Given the description of an element on the screen output the (x, y) to click on. 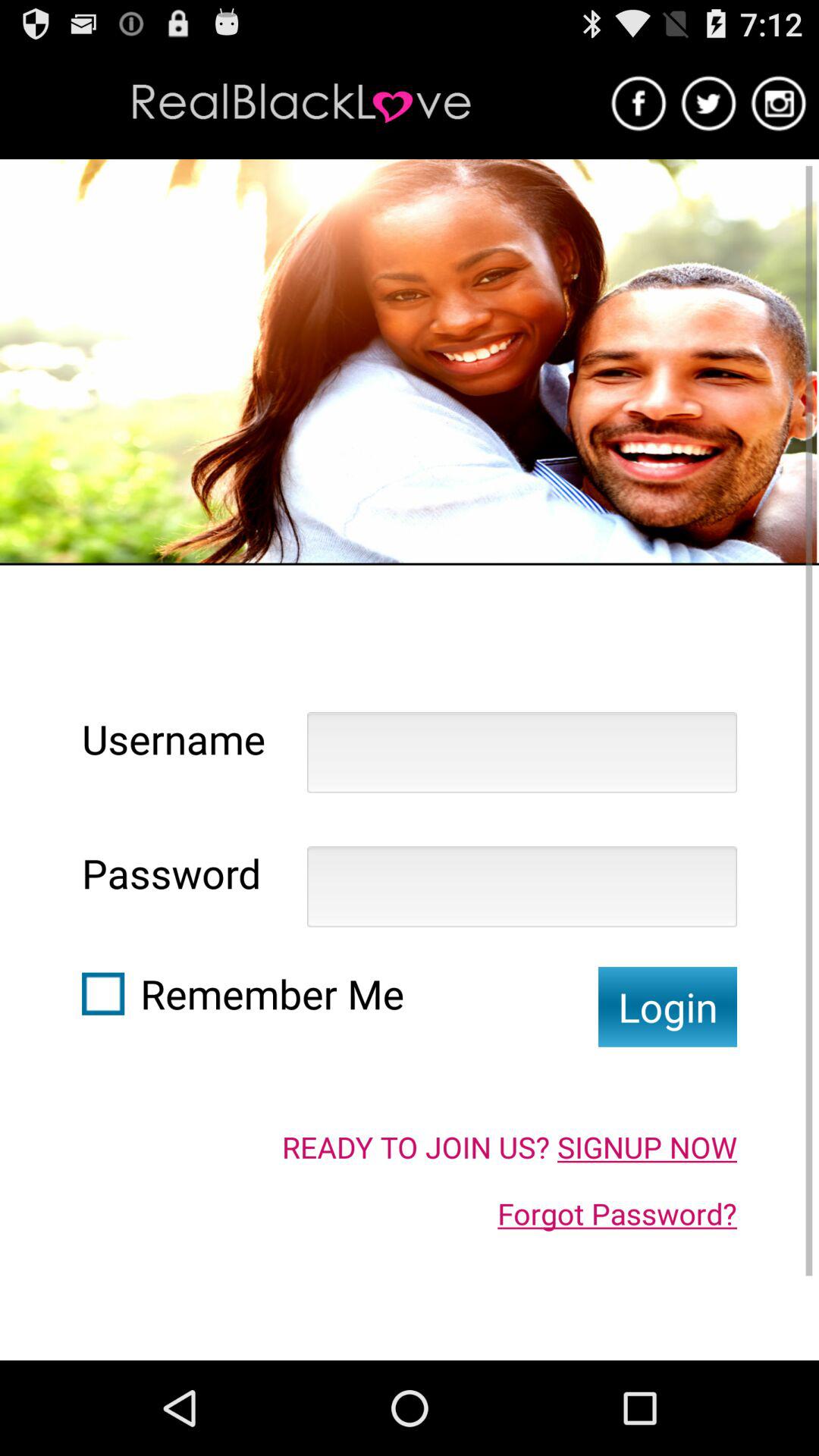
click the ready to join (509, 1147)
